Given the description of an element on the screen output the (x, y) to click on. 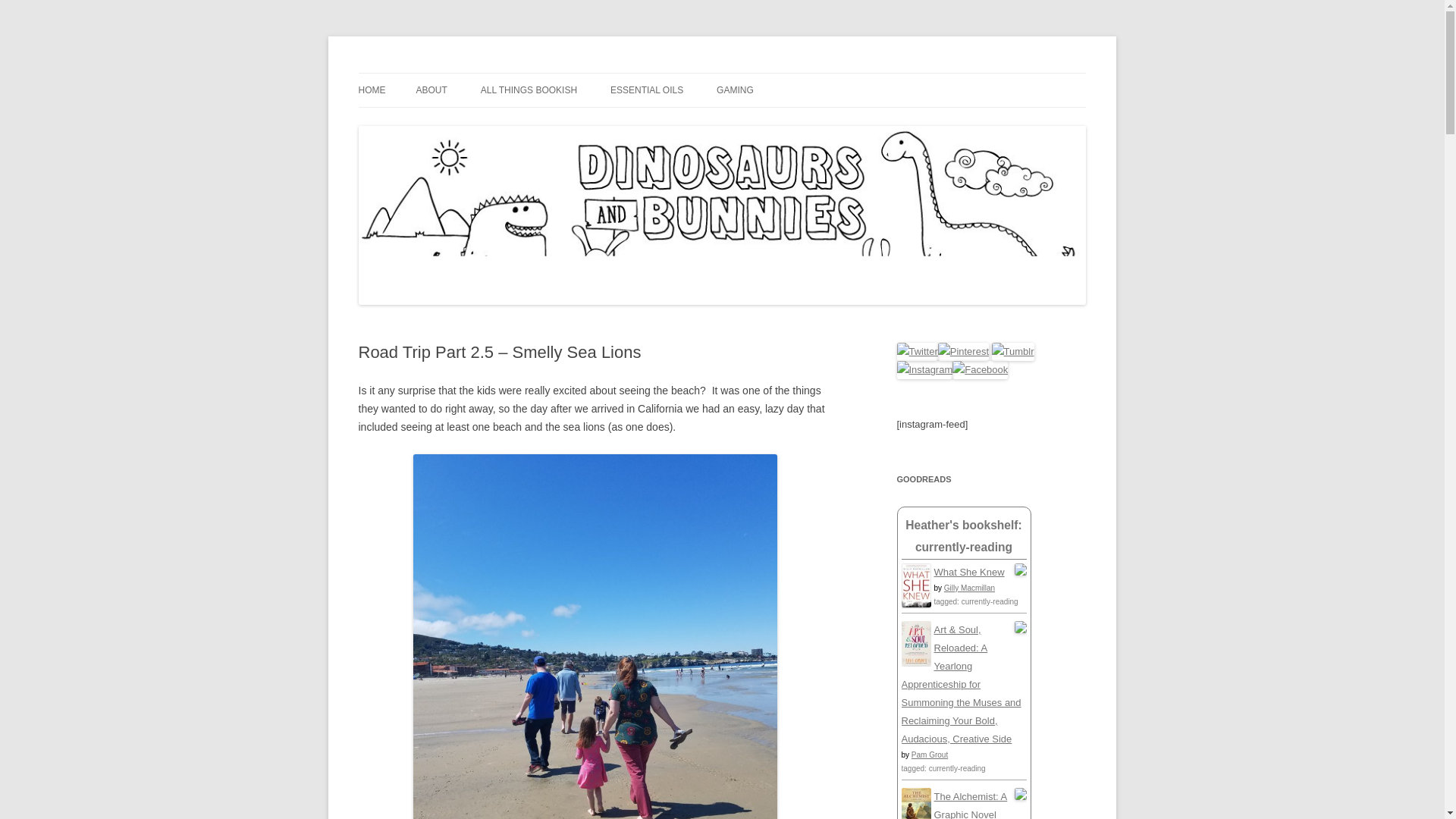
ABOUT (430, 90)
ESSENTIAL OILS (646, 90)
Tumblr (1012, 352)
Gilly Macmillan (968, 587)
Heather's bookshelf: currently-reading (963, 535)
Dino and Bunnies (441, 72)
Pam Grout (929, 755)
GAMING (735, 90)
Instagram (924, 370)
ALL THINGS BOOKISH (528, 90)
The Alchemist: A Graphic Novel (970, 805)
Twitter (916, 352)
What She Knew (969, 572)
Facebook (979, 370)
